Given the description of an element on the screen output the (x, y) to click on. 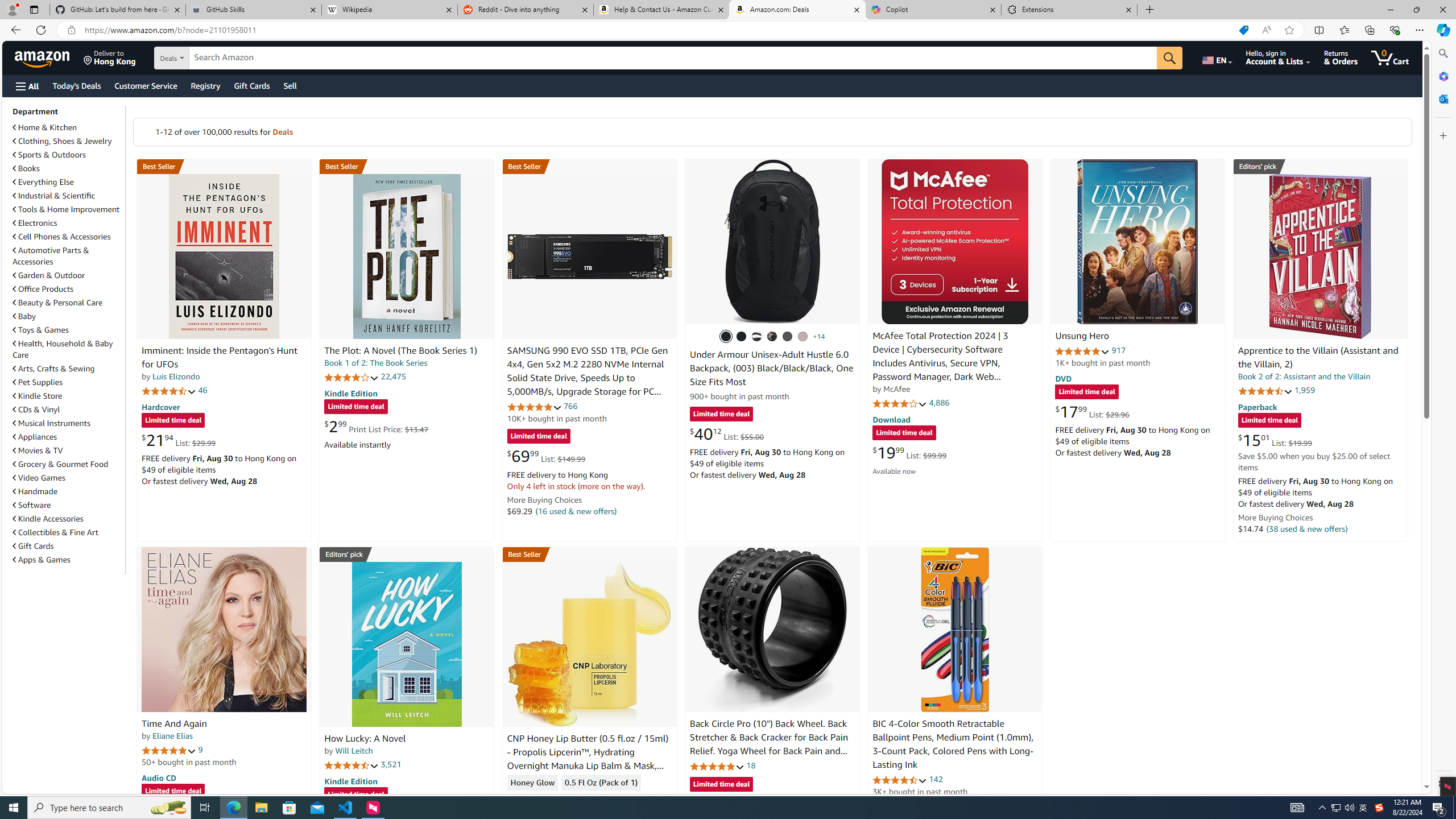
Books (67, 167)
Eliane Elias (171, 735)
Gift Cards (33, 545)
Pet Supplies (67, 382)
Kindle Edition (350, 780)
Gift Cards (67, 546)
Video Games (39, 477)
Arts, Crafts & Sewing (67, 368)
18 (750, 764)
Editors' pick Best Mystery, Thriller & Suspense (406, 553)
